Given the description of an element on the screen output the (x, y) to click on. 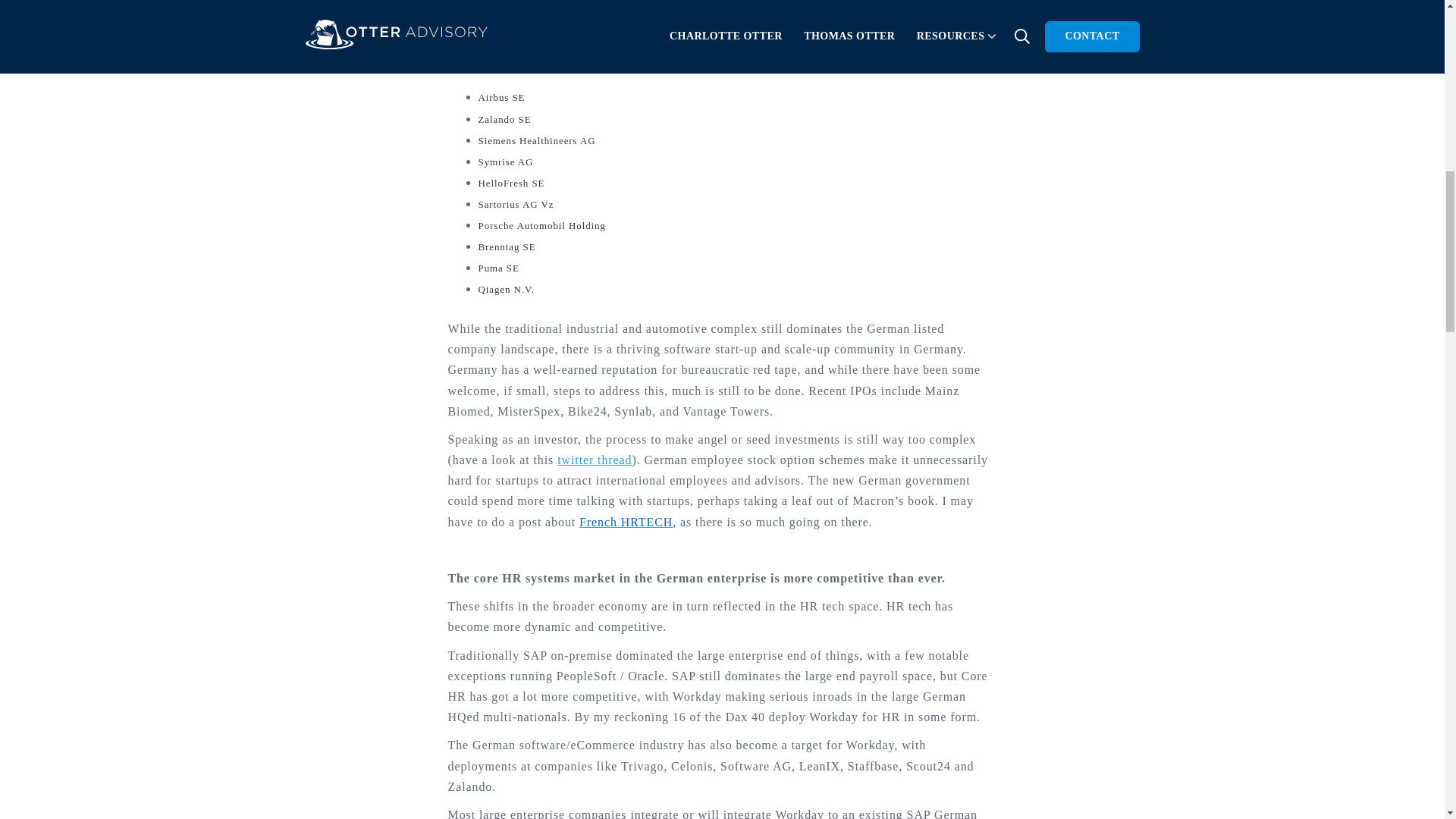
French HRTECH (625, 521)
twitter thread (594, 459)
